Given the description of an element on the screen output the (x, y) to click on. 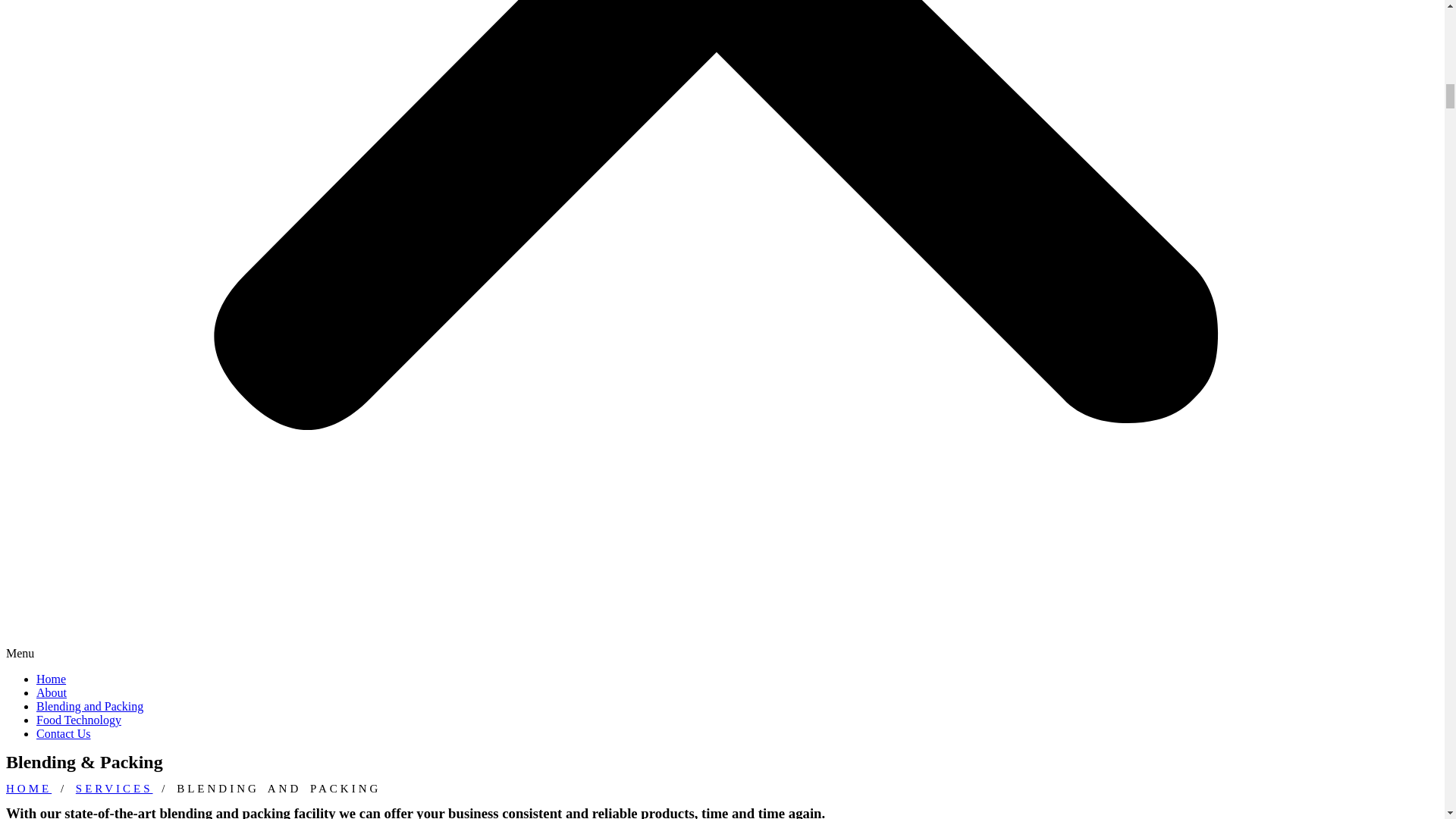
HOME (27, 788)
Food Technology (78, 719)
SERVICES (113, 788)
Blending and Packing (89, 706)
Contact Us (63, 733)
Home (50, 678)
About (51, 692)
